Given the description of an element on the screen output the (x, y) to click on. 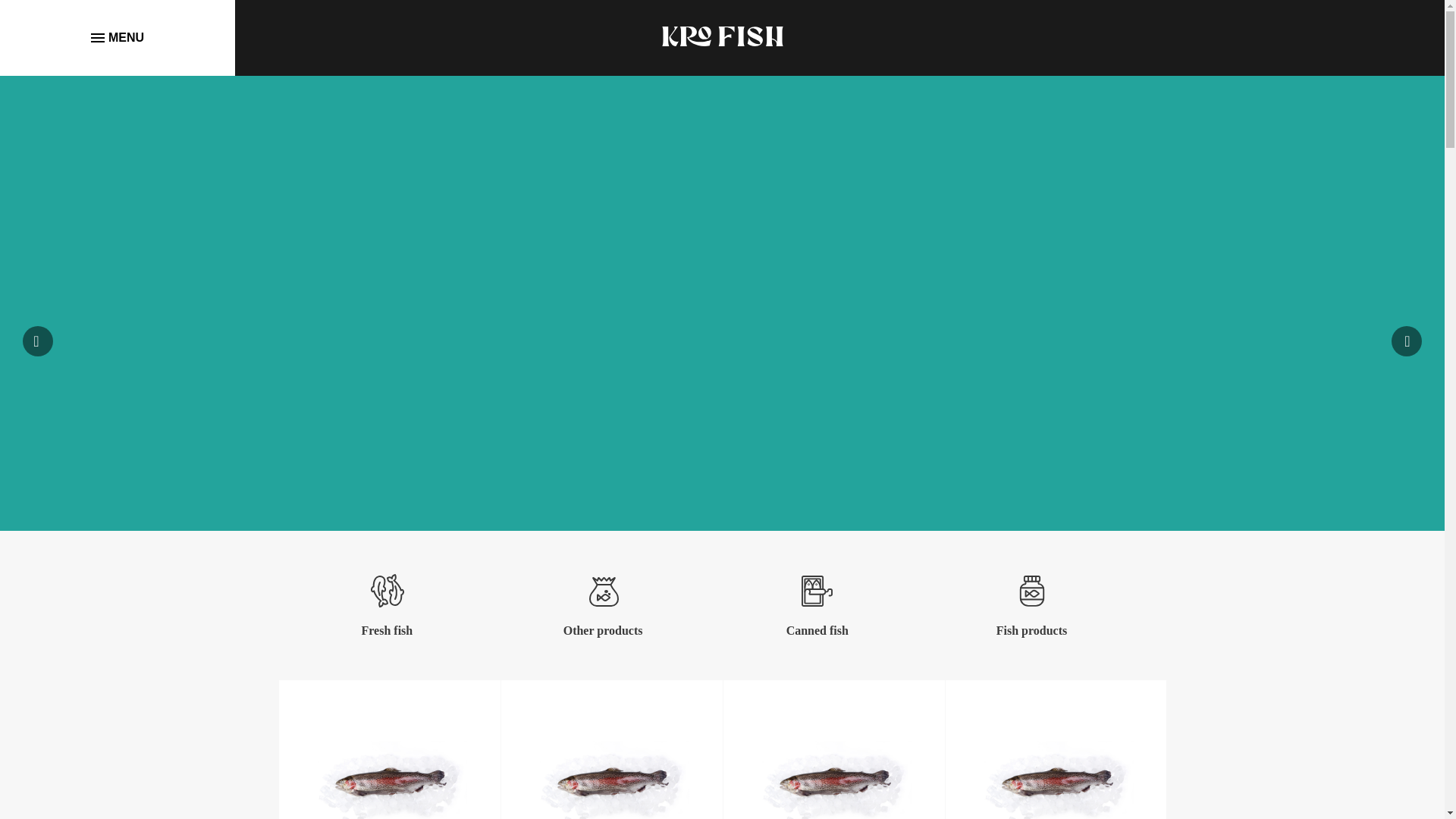
Fresh fish (386, 591)
